Given the description of an element on the screen output the (x, y) to click on. 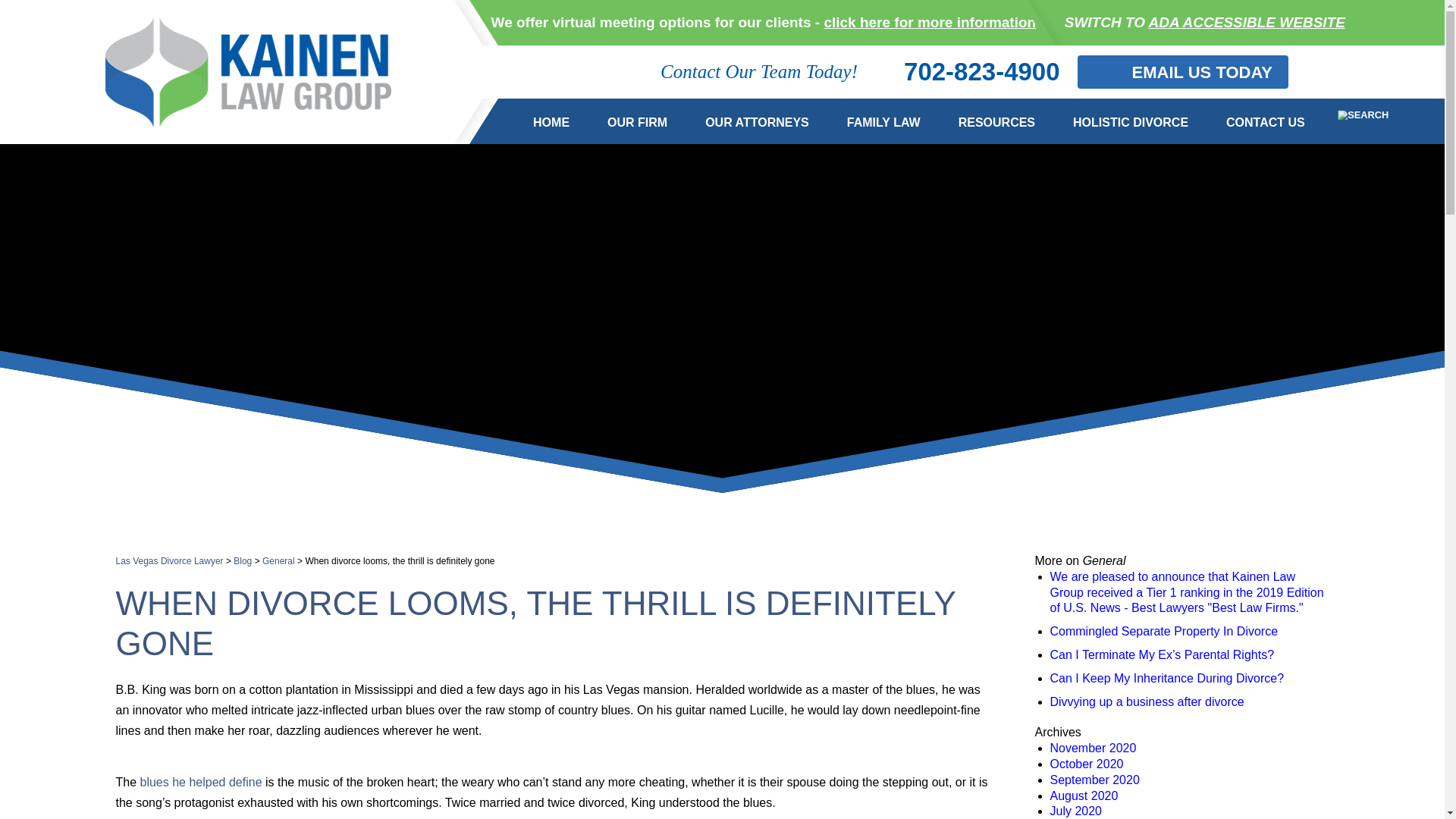
FAMILY LAW (883, 121)
click here for more information (929, 22)
OUR FIRM (636, 121)
EMAIL US TODAY (1182, 72)
ADA ACCESSIBLE WEBSITE (1246, 22)
702-823-4900 (967, 72)
HOME (550, 121)
OUR ATTORNEYS (756, 121)
